Given the description of an element on the screen output the (x, y) to click on. 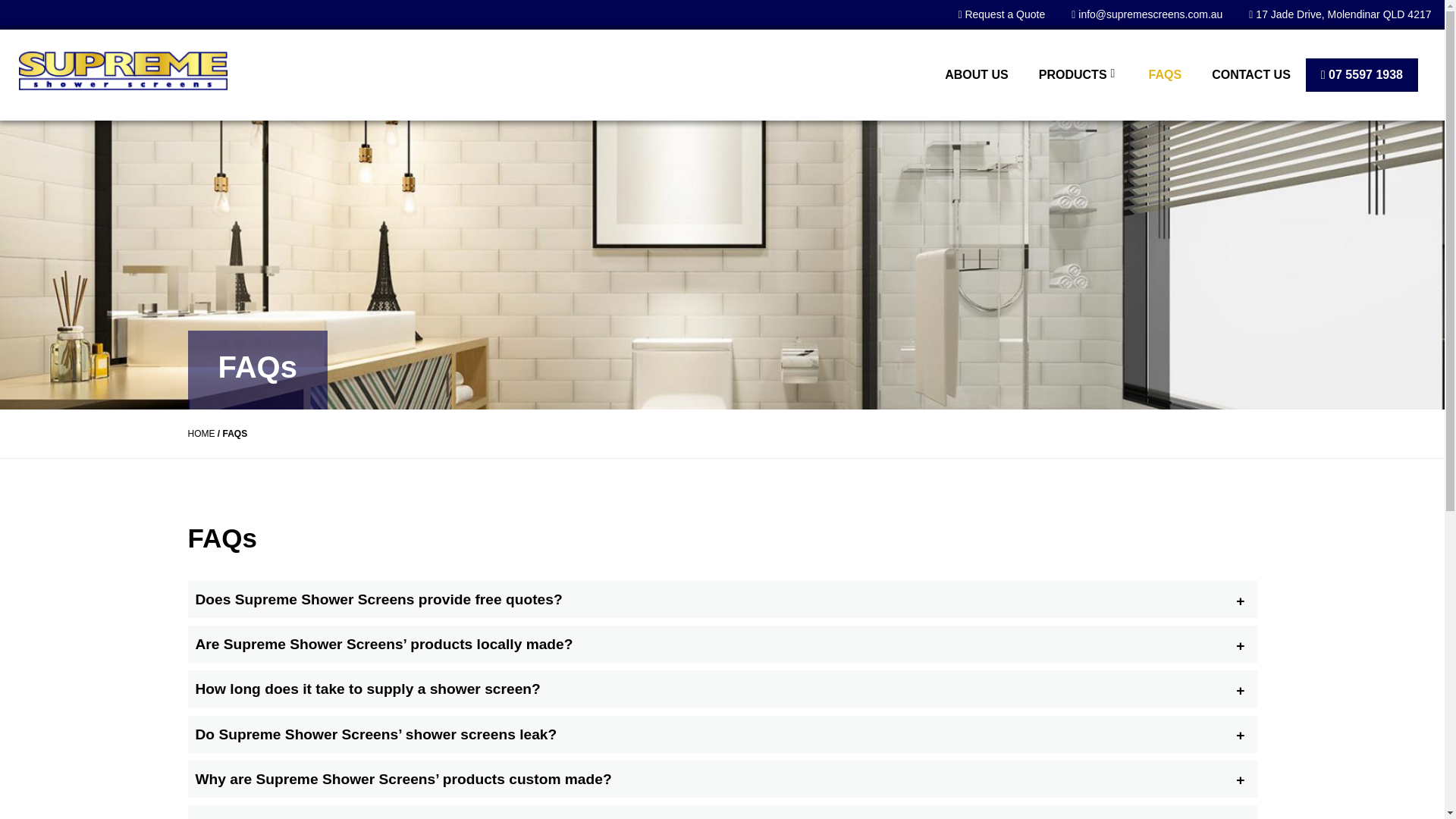
07 5597 1938 (1362, 74)
PRODUCTS (1078, 74)
Supreme Shower Screens (122, 70)
How long does it take to supply a shower screen? (722, 688)
HOME (201, 433)
Does Supreme Shower Screens provide free quotes? (722, 599)
CONTACT US (1250, 74)
ABOUT US (976, 74)
FAQS (1165, 74)
Request a Quote (1001, 14)
Supreme Shower Screens (122, 70)
